Given the description of an element on the screen output the (x, y) to click on. 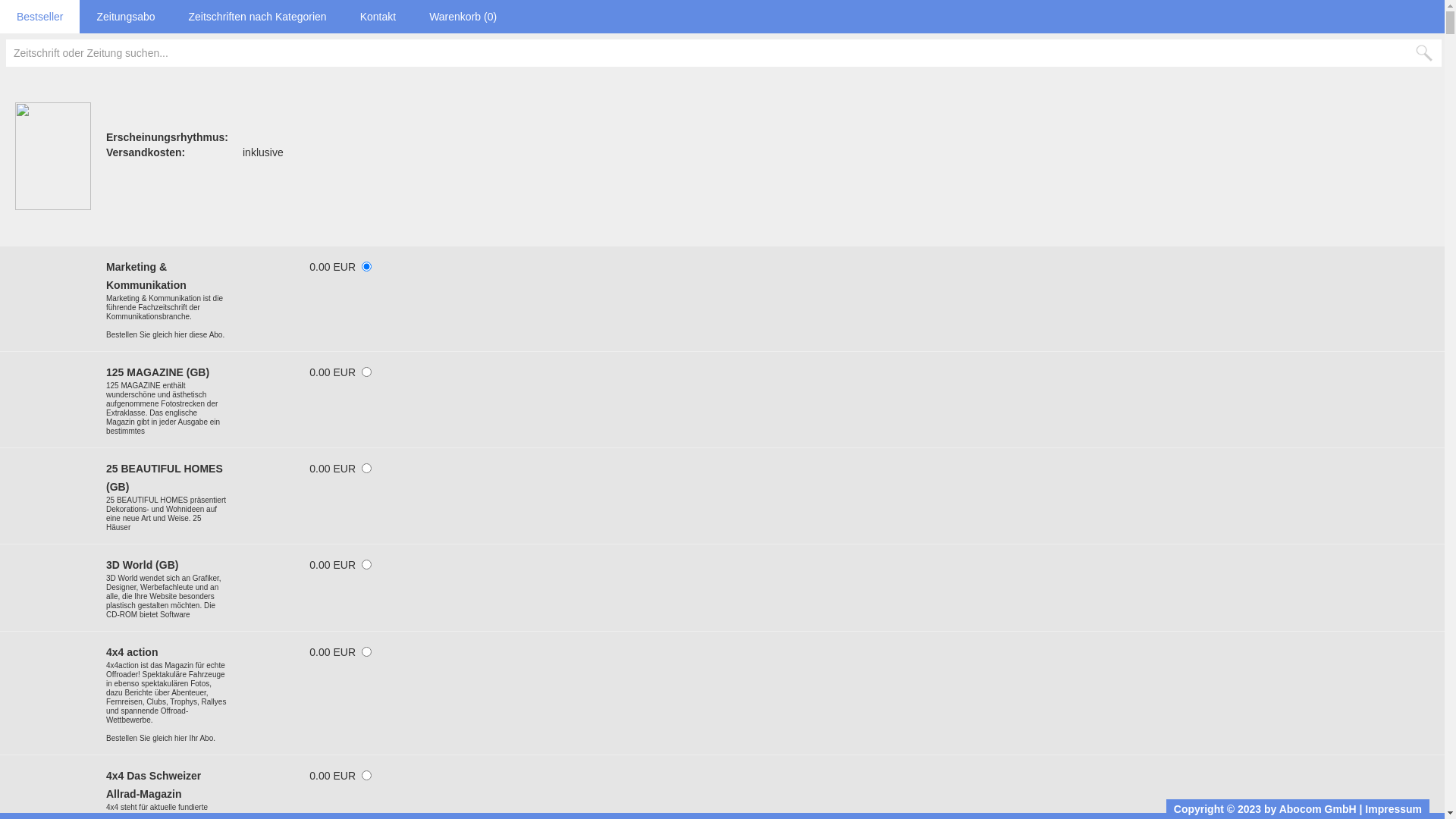
Zeitungsabo Element type: text (125, 16)
Bestseller Element type: text (39, 16)
Warenkorb (0) Element type: text (462, 16)
Kontakt Element type: text (377, 16)
Warenkorb (0) Element type: text (462, 16)
Impressum Element type: text (1393, 809)
Kontakt Element type: text (377, 16)
Zeitschriften nach Kategorien Element type: text (257, 16)
Bestseller Element type: text (39, 16)
